Given the description of an element on the screen output the (x, y) to click on. 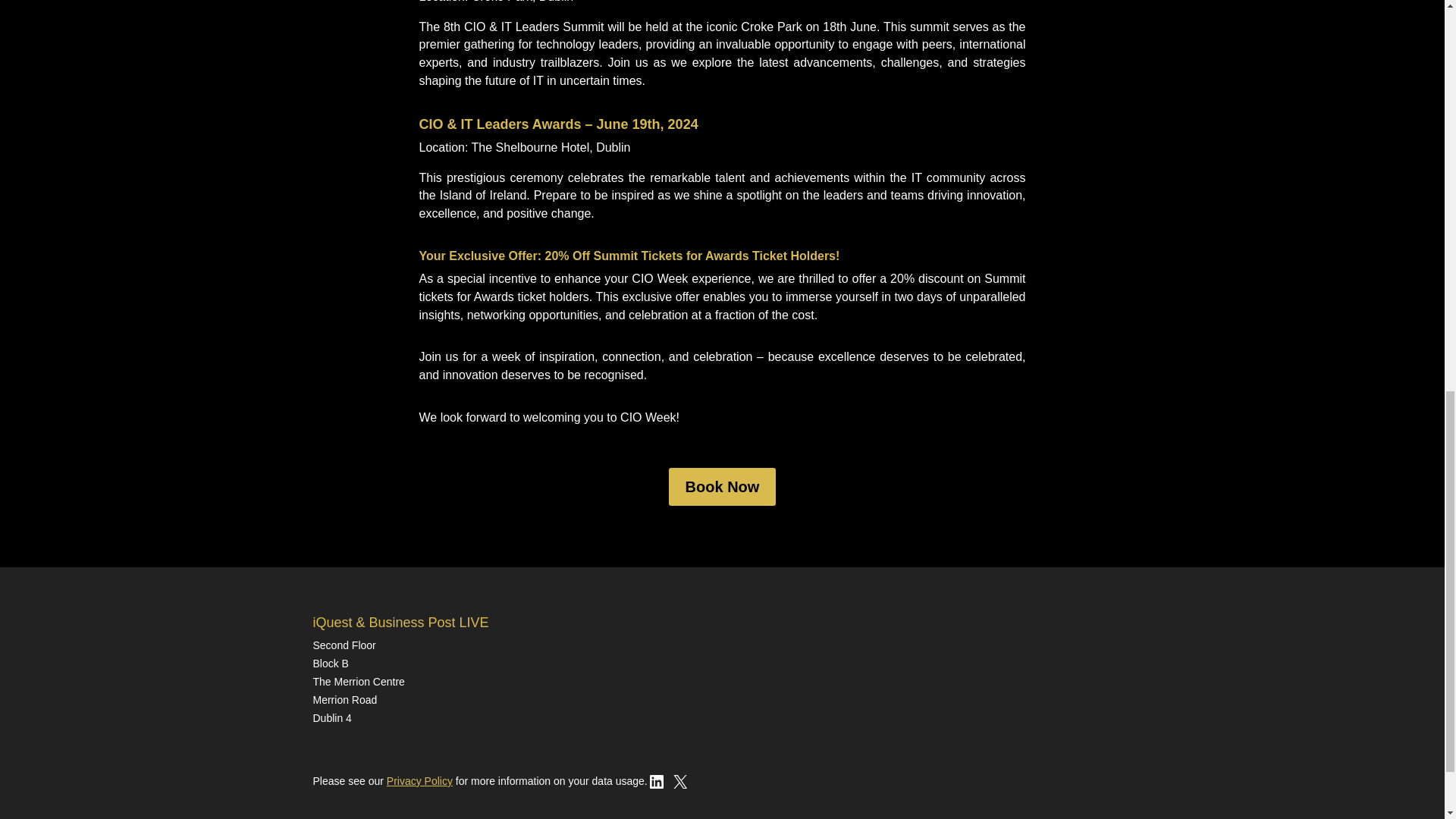
LinkedIn (656, 787)
X (679, 787)
Book Now (722, 486)
Privacy Policy (419, 780)
